Given the description of an element on the screen output the (x, y) to click on. 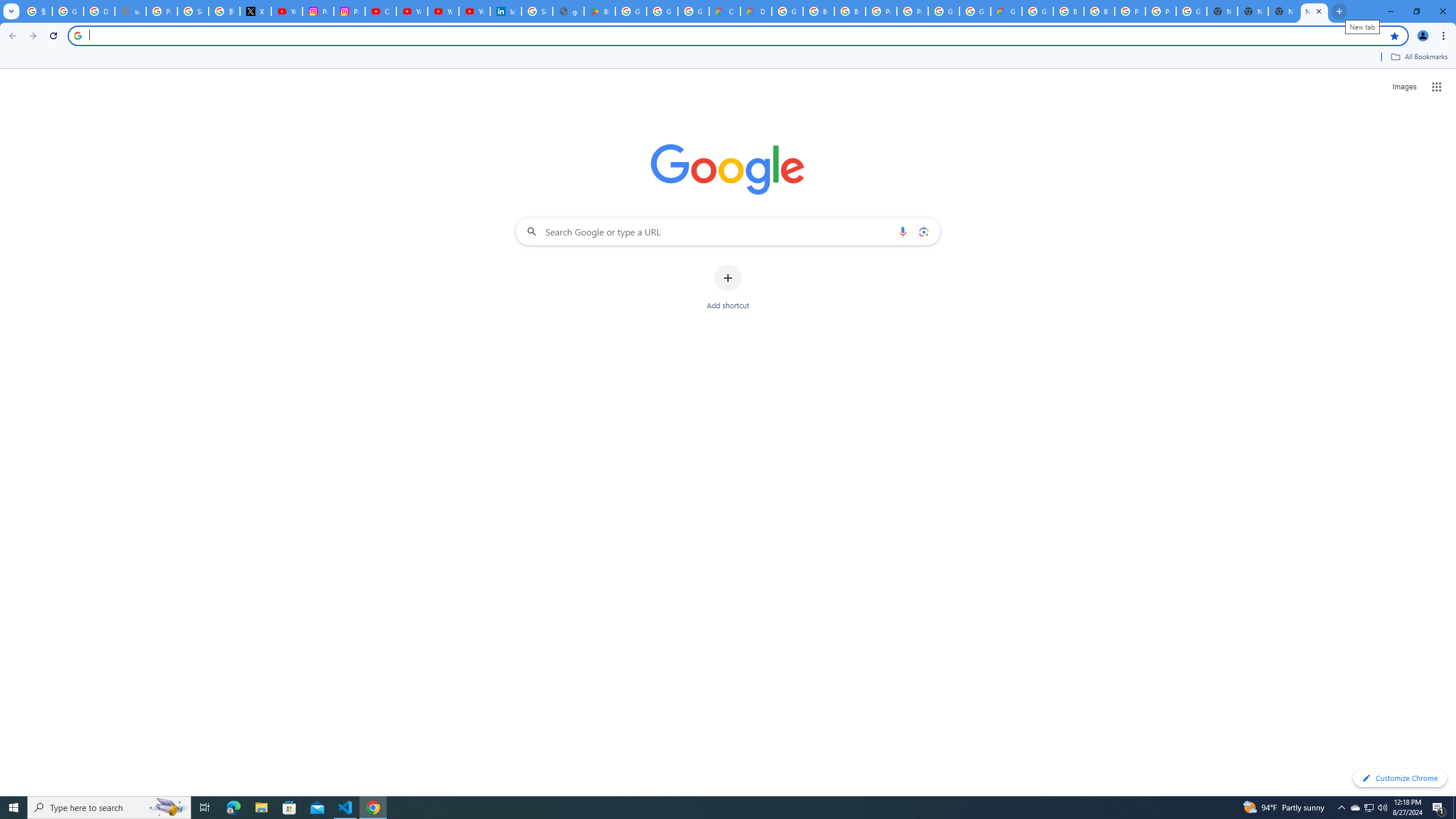
Google Workspace - Specific Terms (693, 11)
Sign in - Google Accounts (536, 11)
YouTube Culture & Trends - YouTube Top 10, 2021 (474, 11)
Google Workspace - Specific Terms (662, 11)
Customer Care | Google Cloud (724, 11)
Google Cloud Platform (1190, 11)
